Given the description of an element on the screen output the (x, y) to click on. 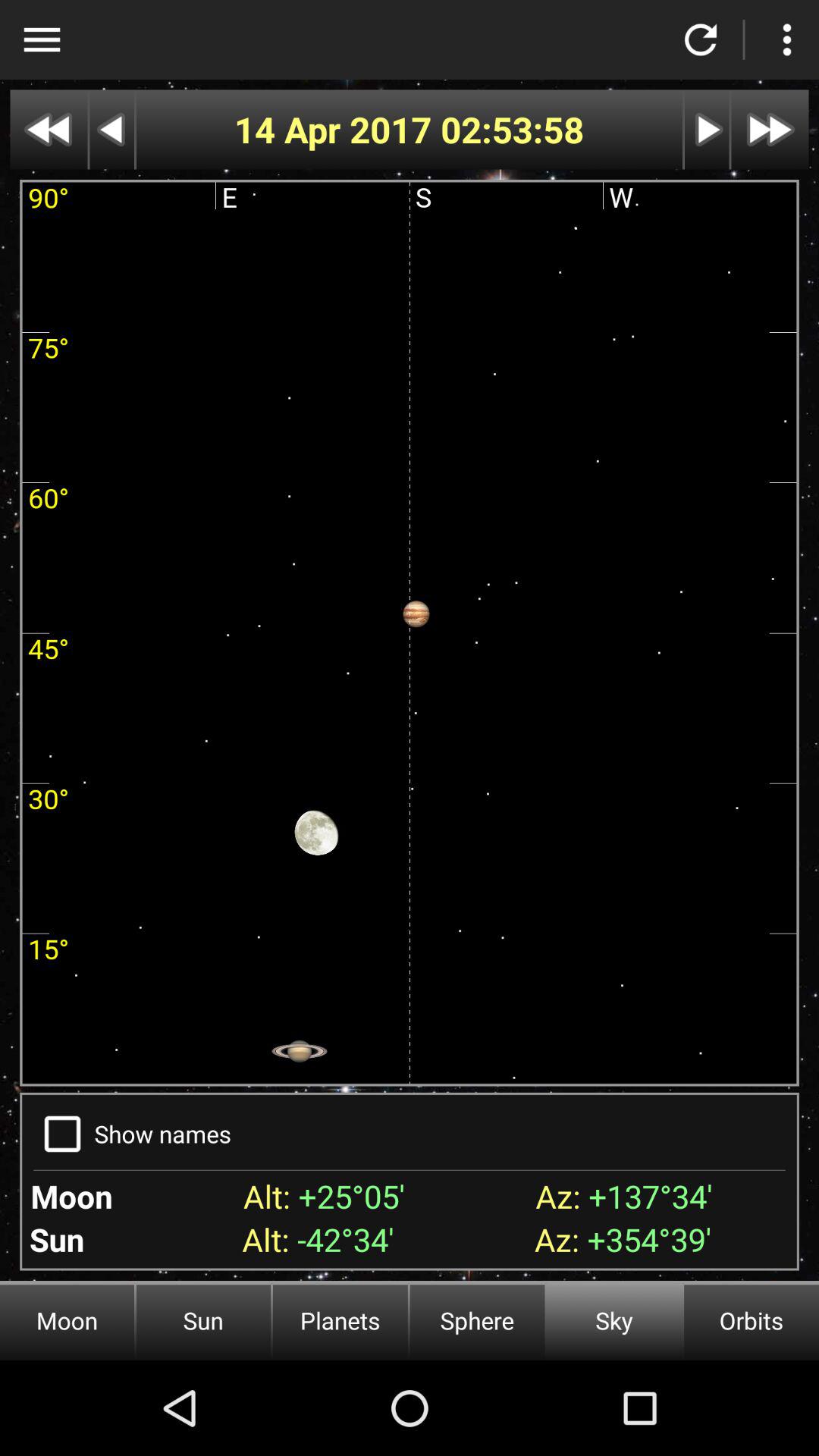
refresh (700, 39)
